Given the description of an element on the screen output the (x, y) to click on. 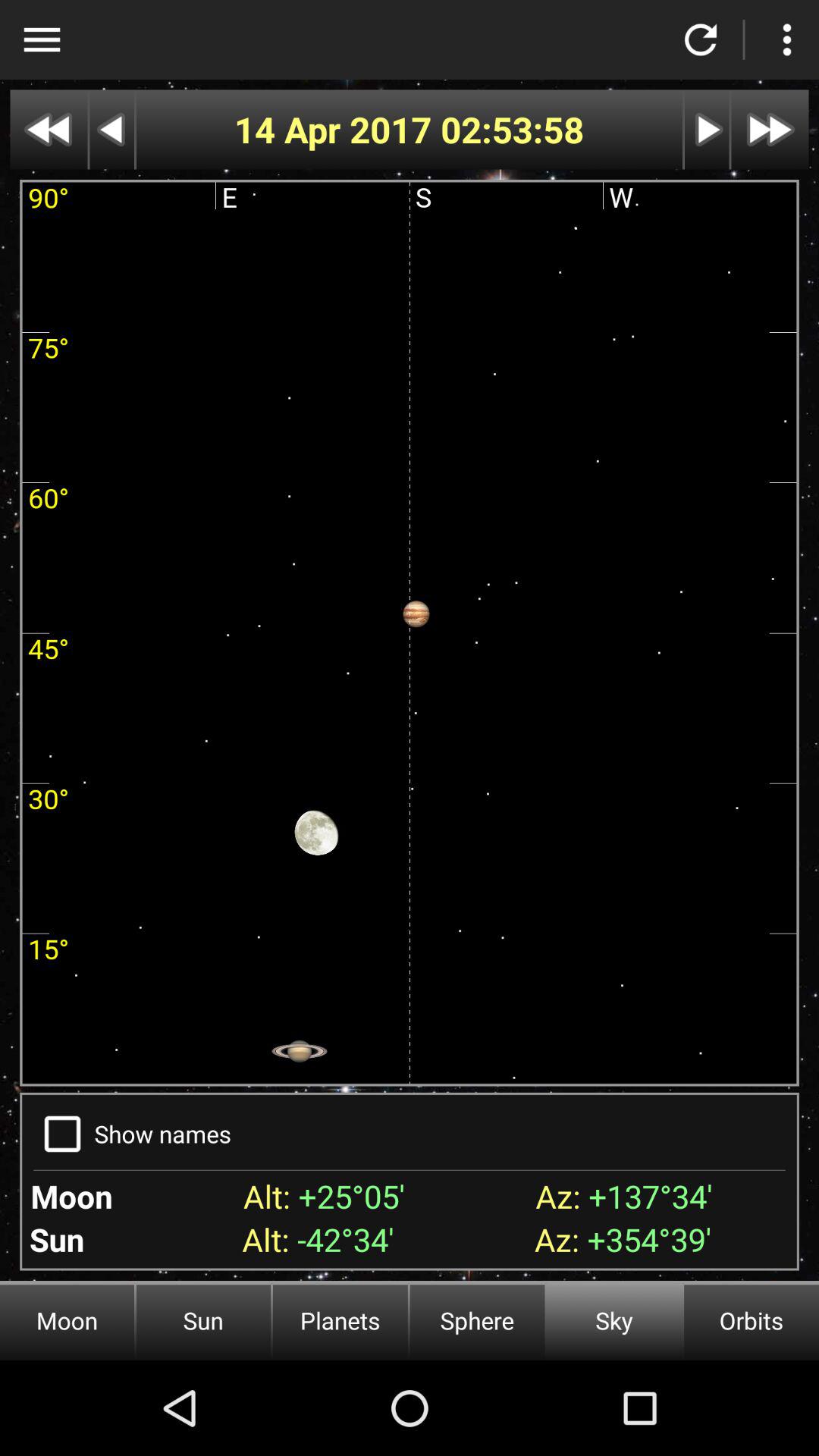
refresh (700, 39)
